Given the description of an element on the screen output the (x, y) to click on. 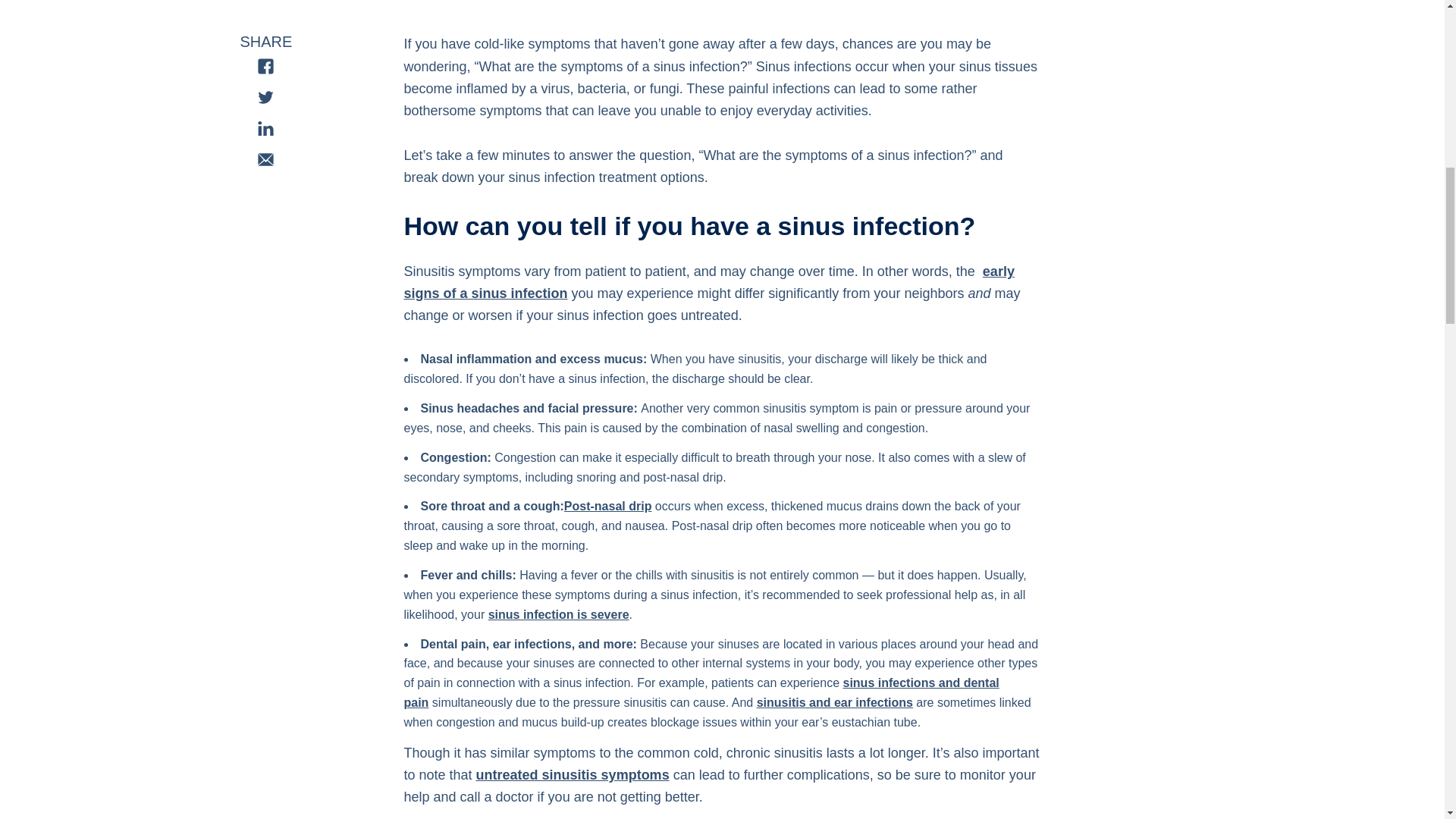
sinus infections and dental pain (700, 692)
sinus infection is severe (557, 614)
Post-nasal drip (608, 505)
sinusitis and ear infections (834, 702)
untreated sinusitis symptoms (572, 774)
early signs of a sinus infection (708, 282)
